Given the description of an element on the screen output the (x, y) to click on. 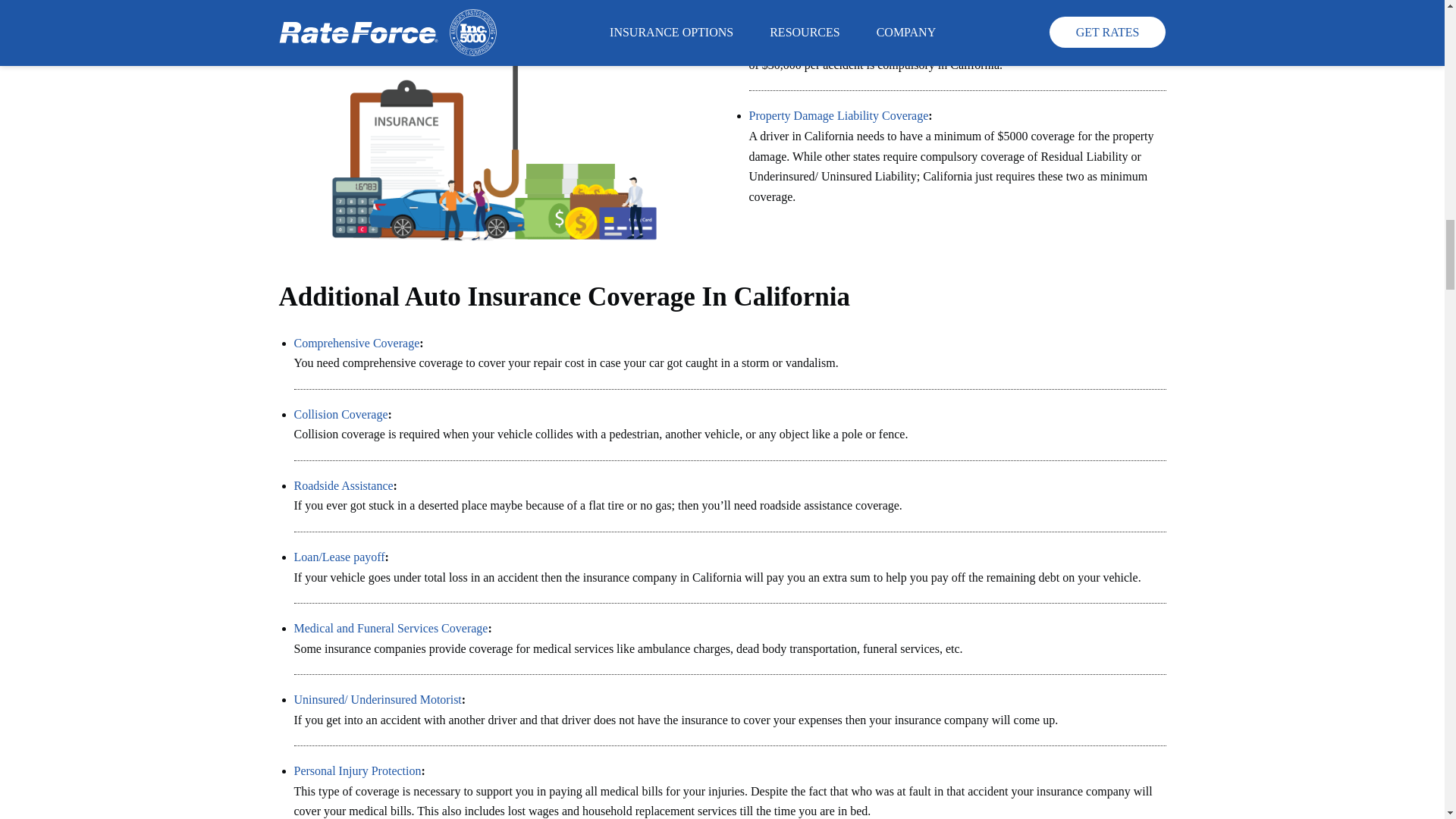
Medical and Funeral Services Coverage (390, 627)
Comprehensive Coverage (357, 342)
Bodily Injury Liability Coverage (828, 24)
Property Damage Liability Coverage (838, 115)
Collision Coverage (341, 413)
Personal Injury Protection (358, 770)
Roadside Assistance (343, 485)
